Given the description of an element on the screen output the (x, y) to click on. 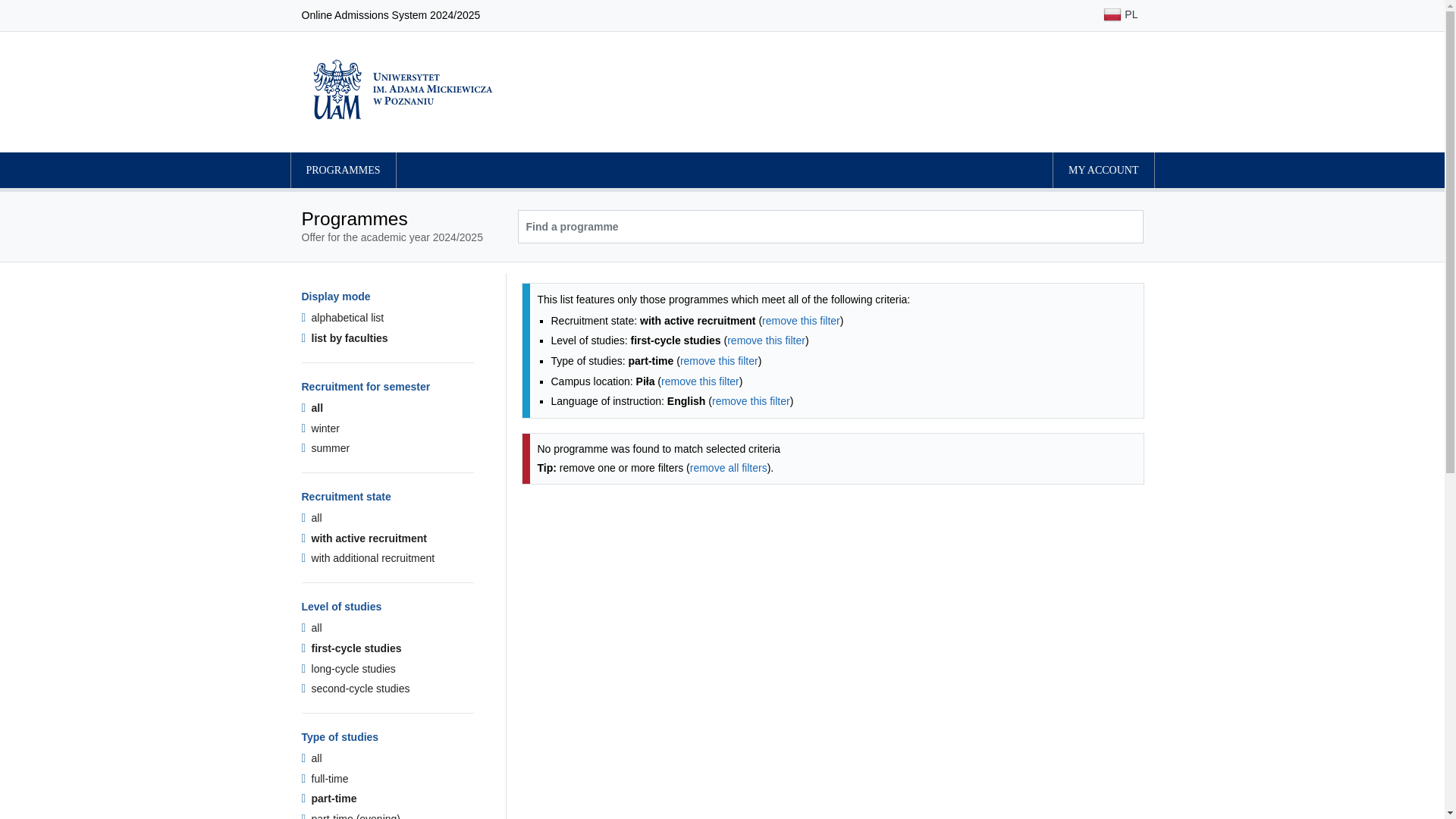
all (311, 627)
all (311, 758)
remove this filter (765, 340)
remove this filter (750, 400)
with active recruitment (364, 538)
winter (320, 428)
long-cycle studies (348, 668)
second-cycle studies (355, 688)
first-cycle studies (351, 648)
PL (1119, 15)
remove this filter (800, 320)
alphabetical list (342, 317)
list by faculties (344, 337)
with additional recruitment (368, 558)
MY ACCOUNT (1103, 170)
